Given the description of an element on the screen output the (x, y) to click on. 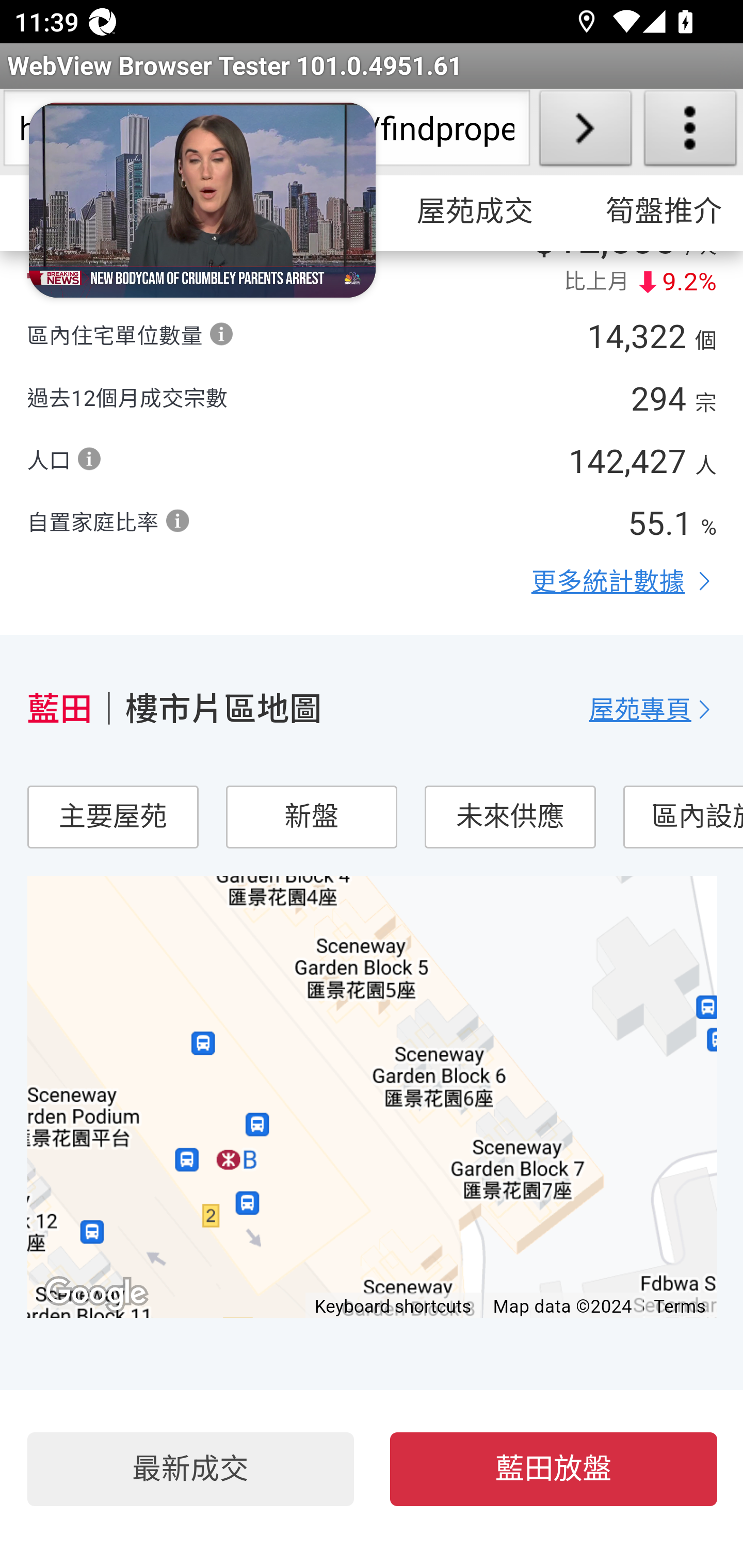
Load URL (585, 132)
About WebView (690, 132)
屋苑成交 (474, 212)
筍盤推介 (655, 212)
更多統計數據  (624, 582)
屋苑專頁  屋苑專頁  (653, 710)
主要屋苑 (112, 817)
新盤 (310, 817)
未來供應 (508, 817)
最新成交 (190, 1469)
藍田放盤 (554, 1469)
